Given the description of an element on the screen output the (x, y) to click on. 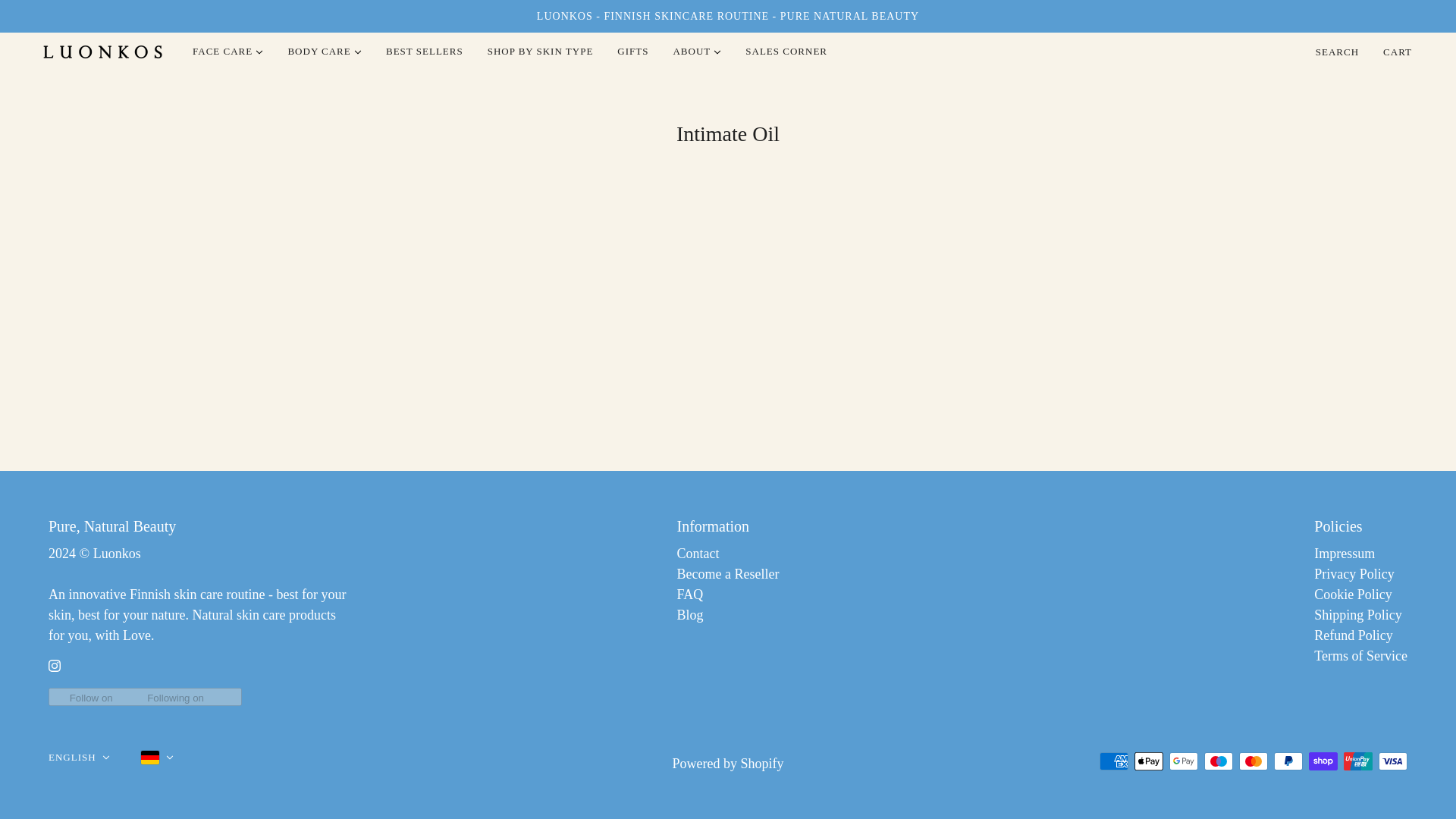
SALES CORNER (786, 51)
Become a Reseller (727, 572)
Contact (698, 553)
BODY CARE (324, 51)
Impressum (1344, 553)
ABOUT (697, 51)
Become a Reseller (727, 572)
Blog (690, 613)
Terms of Service (1360, 654)
Privacy Policy (1354, 572)
FAQ (690, 594)
CART  (1398, 51)
SHOP BY SKIN TYPE (540, 51)
Luonkos International (102, 50)
Shipping Policy (1358, 613)
